Given the description of an element on the screen output the (x, y) to click on. 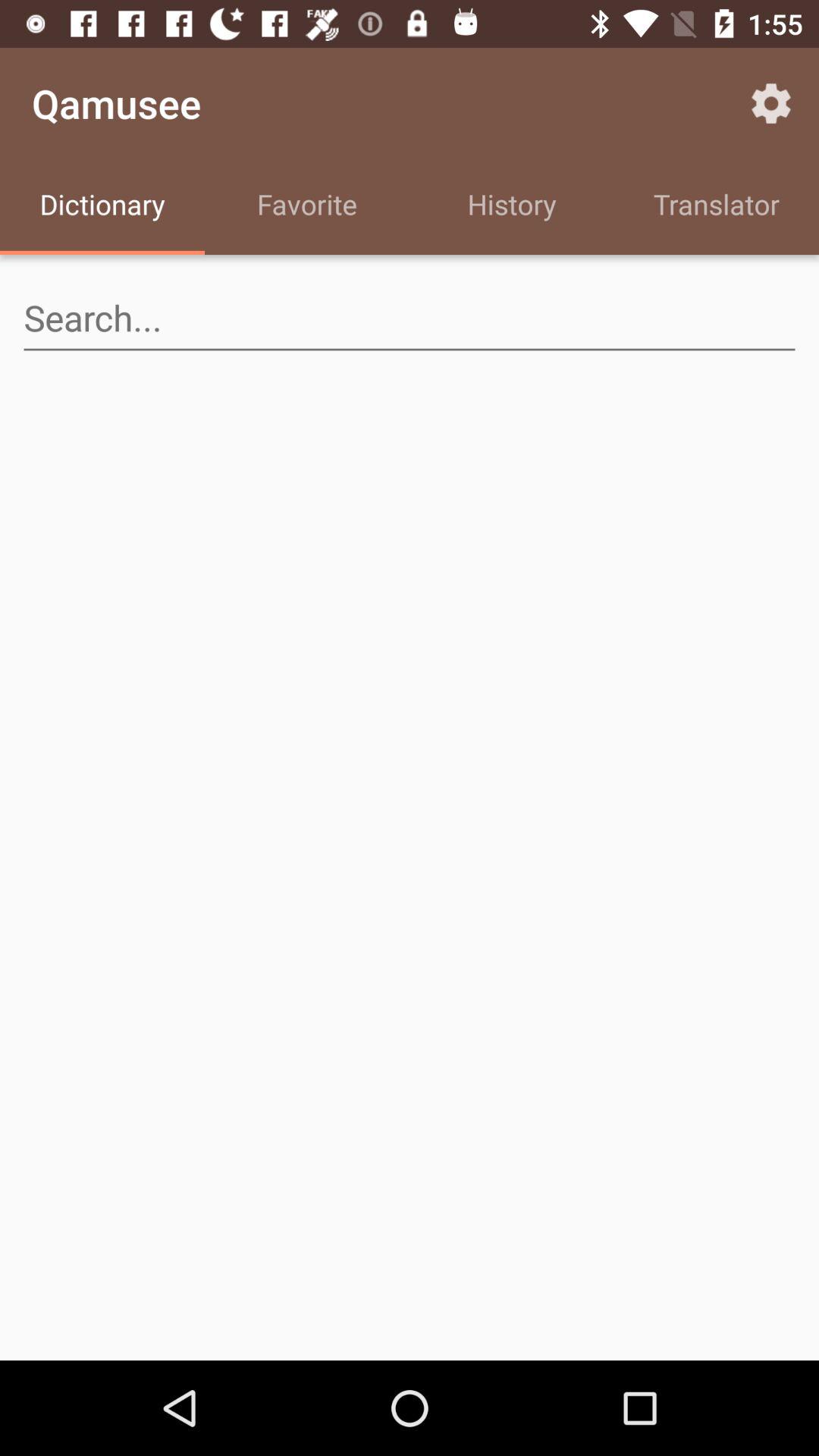
turn off the icon to the left of the history item (306, 206)
